Given the description of an element on the screen output the (x, y) to click on. 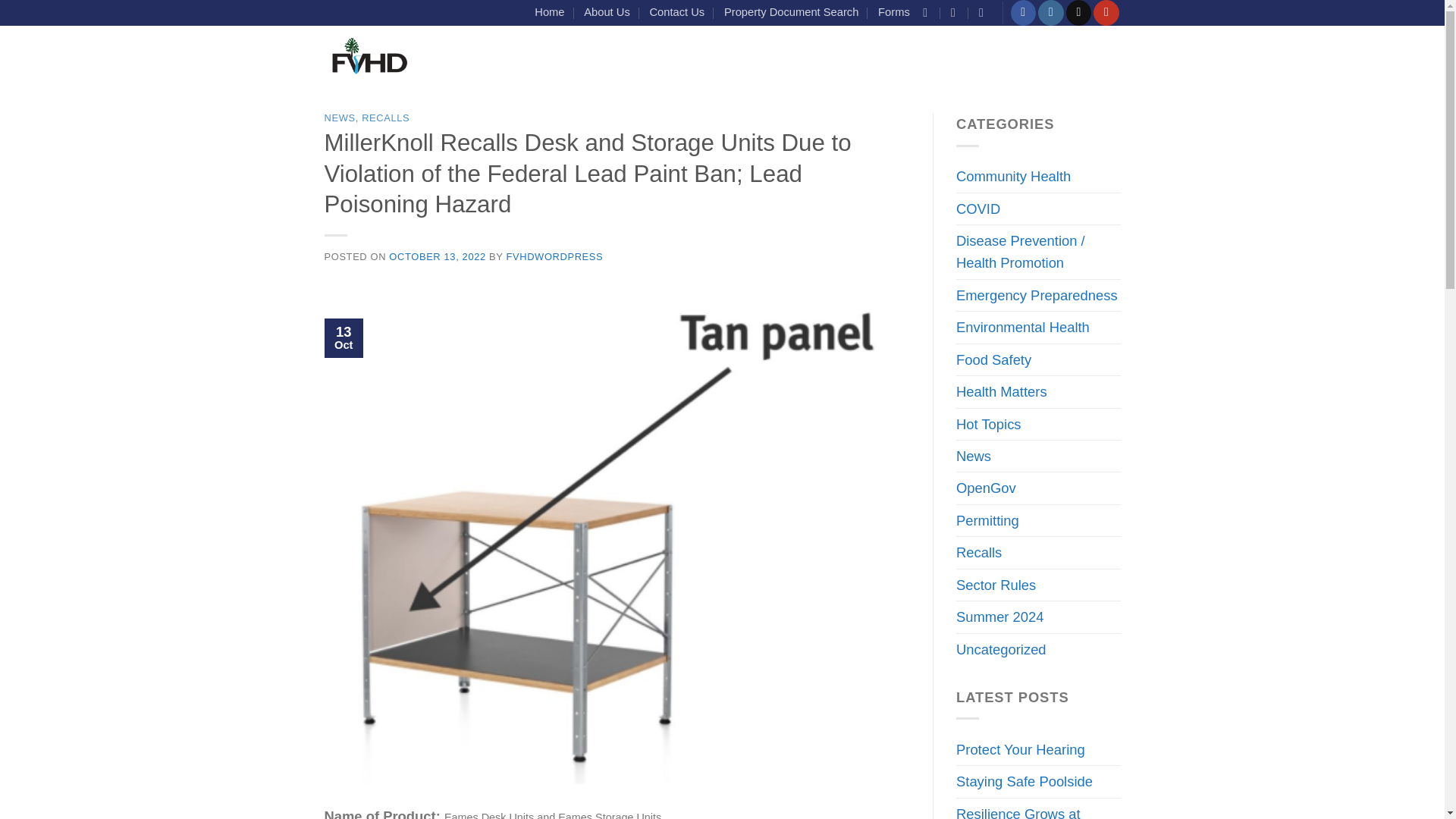
Board of Health (803, 58)
RECALLS (385, 117)
Home (549, 12)
Follow on Facebook (1022, 12)
Property Document Search (791, 12)
About Us (605, 12)
NEWS (339, 117)
fvhd.org - Farmington Valley Health District (368, 57)
Send us an email (1077, 12)
Contact Us (676, 12)
